Given the description of an element on the screen output the (x, y) to click on. 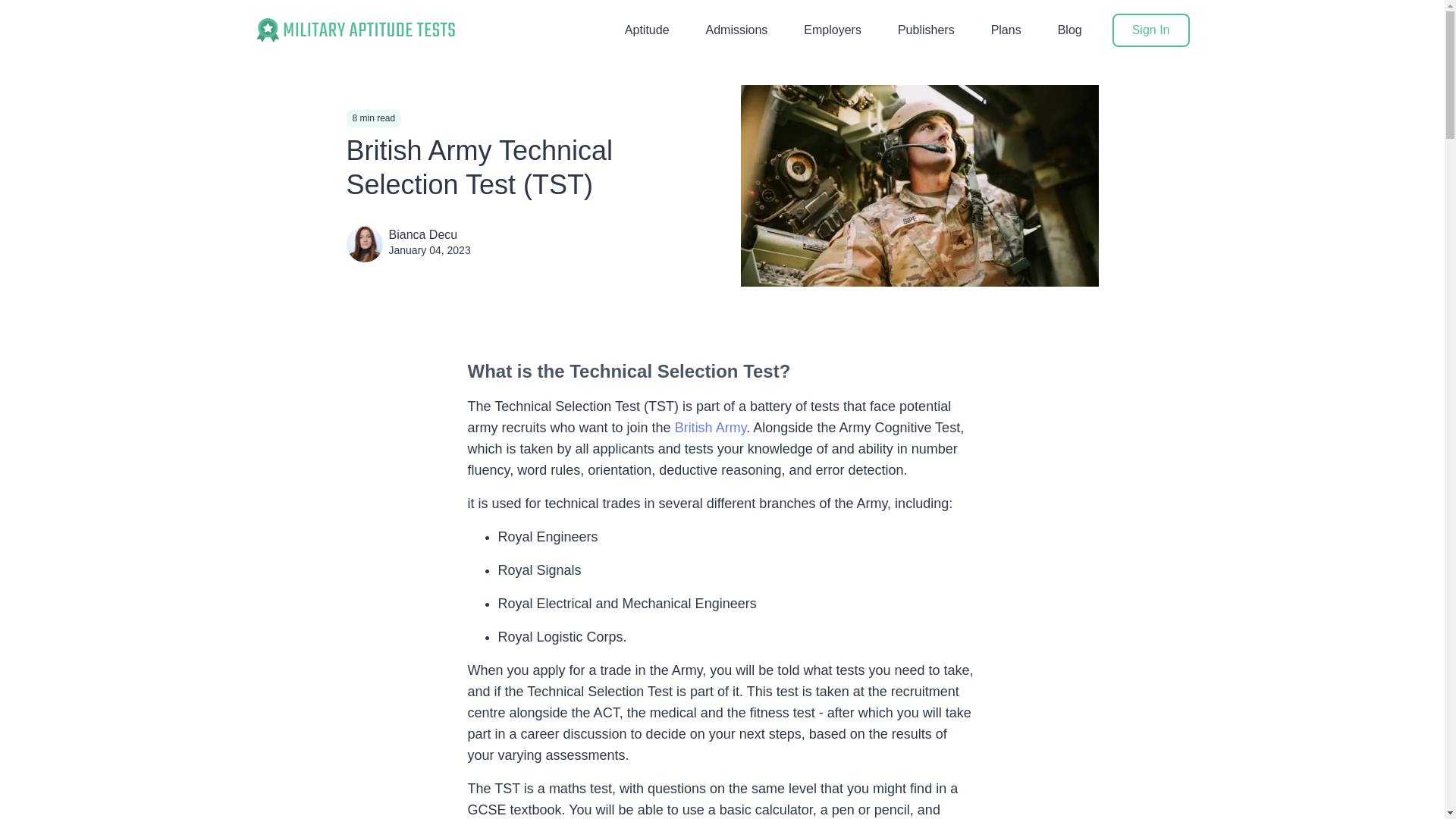
British Army (710, 427)
Military Aptitude Tests (354, 30)
Plans (1006, 29)
Admissions (737, 29)
Employers (832, 29)
Sign In (1150, 29)
Publishers (926, 29)
Blog (1069, 29)
Aptitude (646, 29)
